Given the description of an element on the screen output the (x, y) to click on. 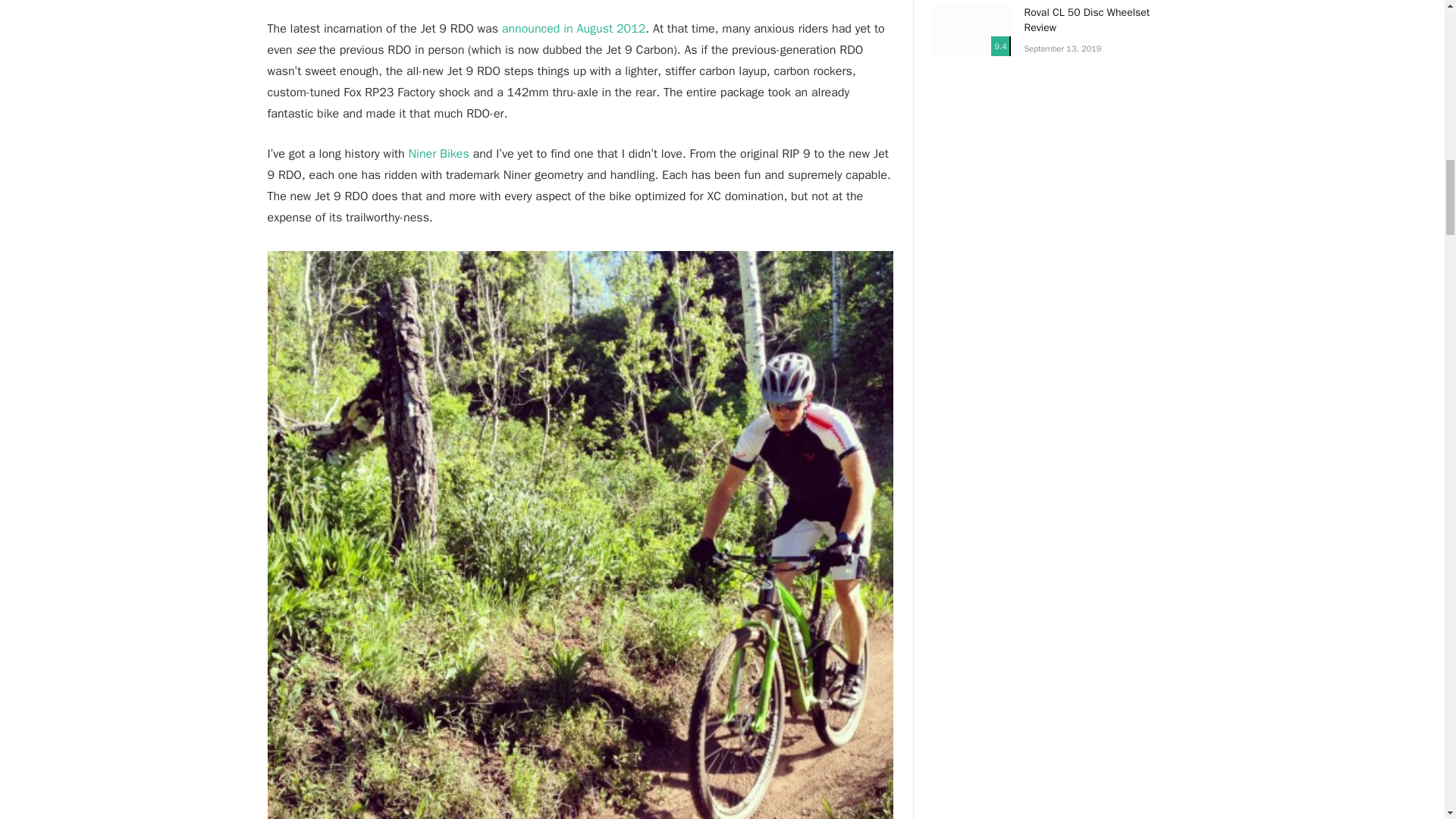
Niner Bikes (438, 153)
announced in August 2012 (574, 28)
